Given the description of an element on the screen output the (x, y) to click on. 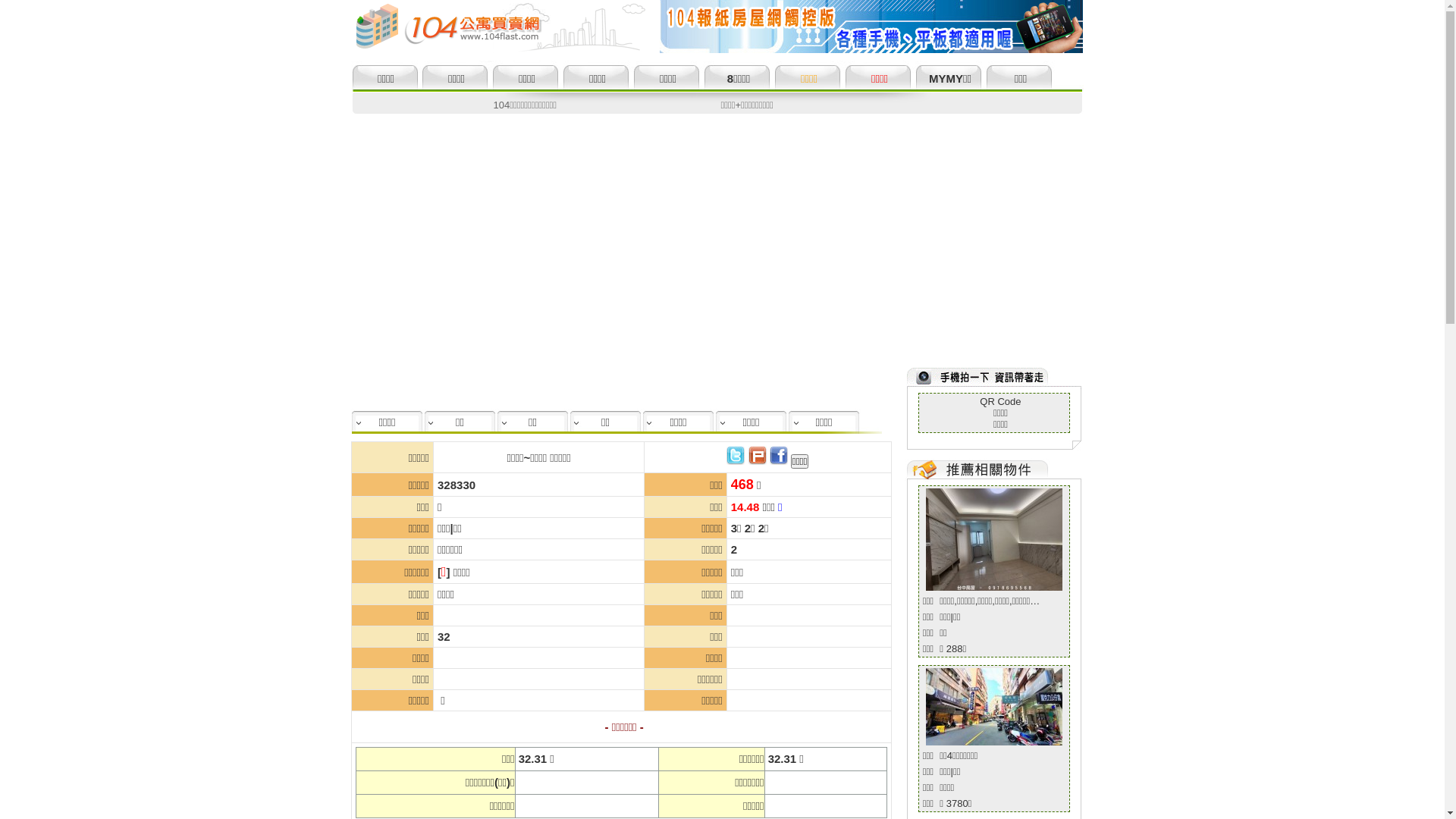
Advertisement Element type: hover (721, 227)
